Given the description of an element on the screen output the (x, y) to click on. 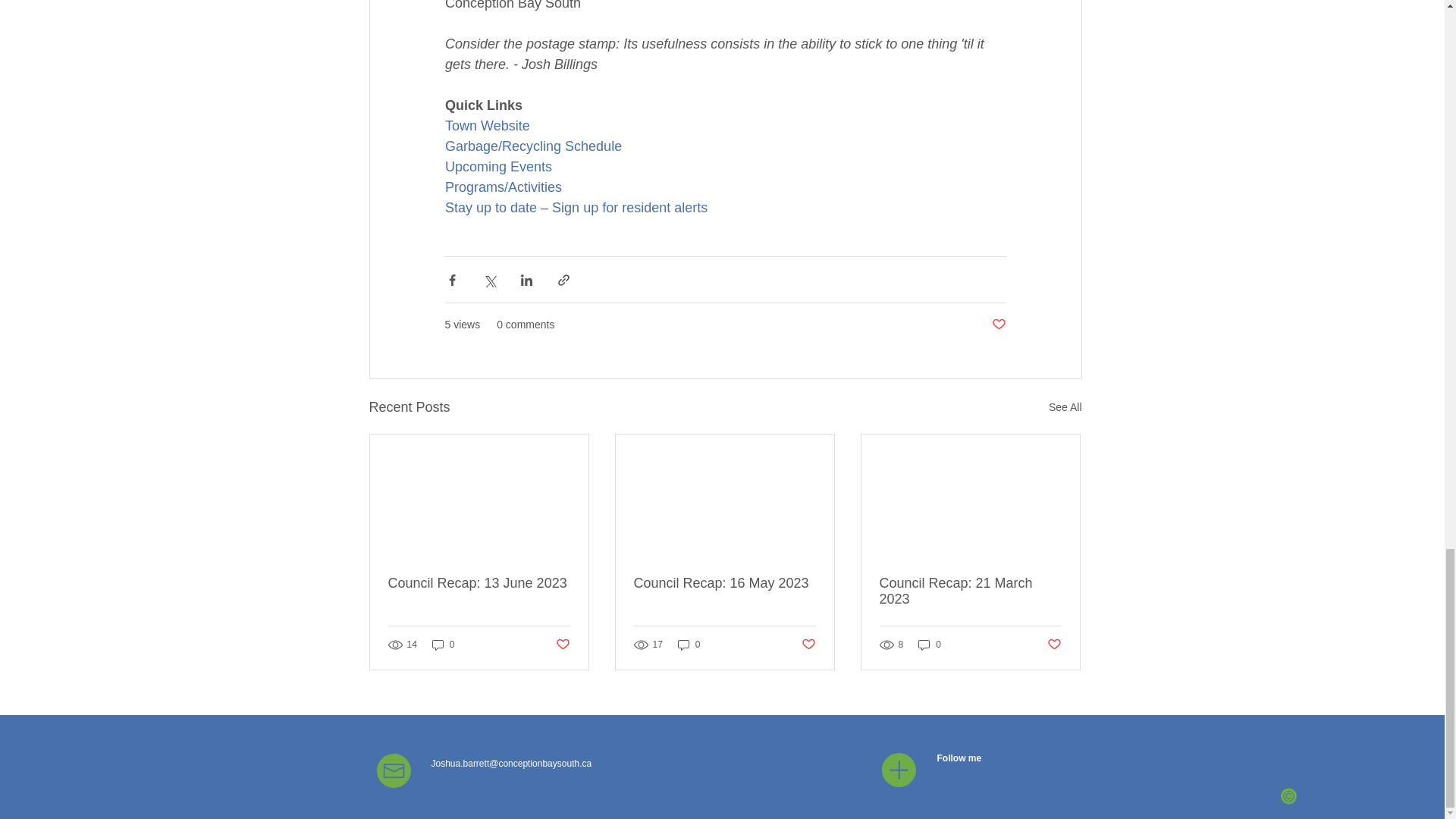
Post not marked as liked (807, 643)
Council Recap: 21 March 2023 (970, 591)
0 (689, 644)
0 (443, 644)
0 (929, 644)
See All (1064, 407)
Post not marked as liked (998, 324)
Upcoming Events (497, 166)
Council Recap: 13 June 2023 (479, 583)
Council Recap: 16 May 2023 (724, 583)
Post not marked as liked (561, 643)
Post not marked as liked (1053, 643)
Town Website (486, 125)
